Given the description of an element on the screen output the (x, y) to click on. 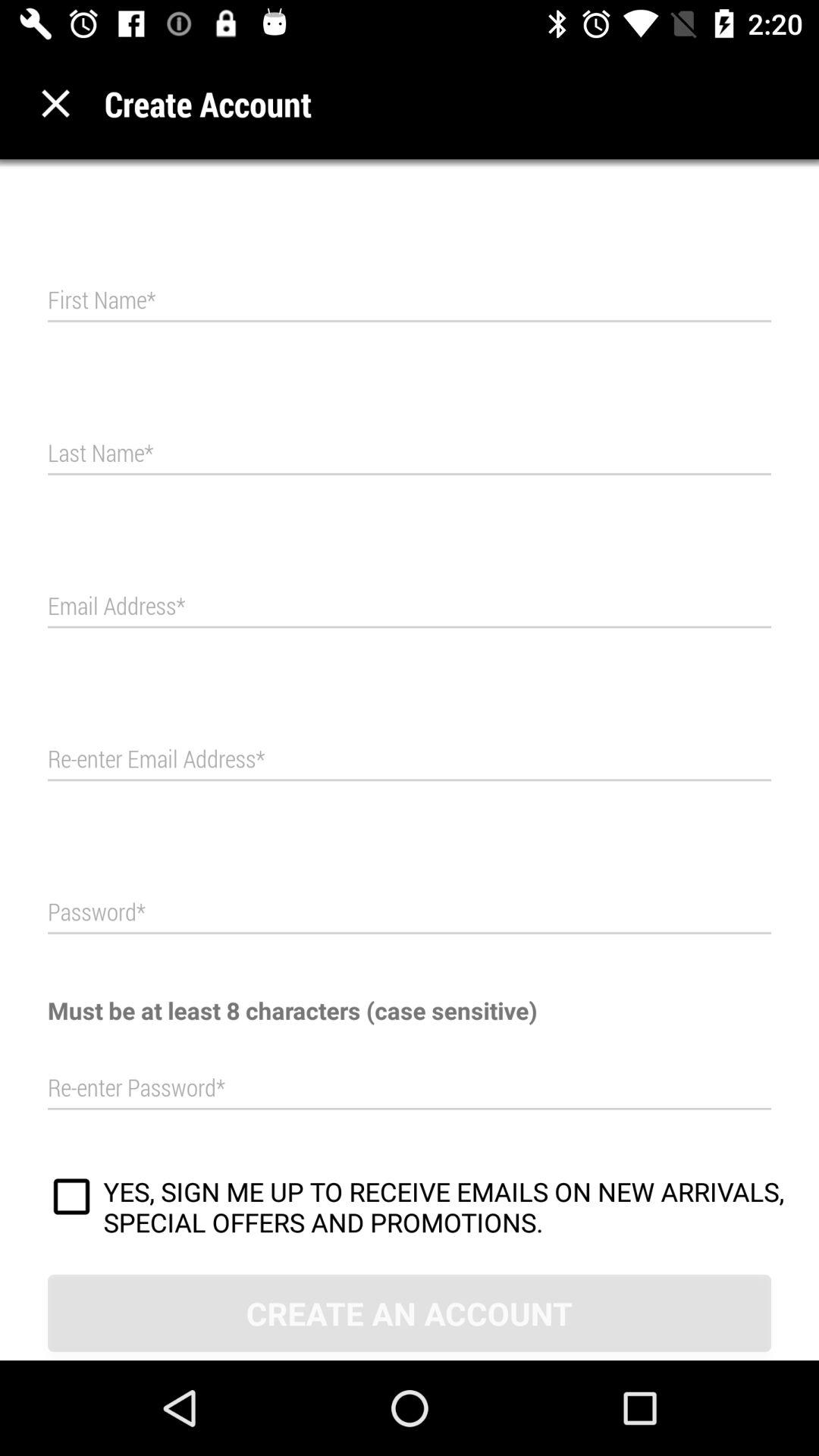
launch icon below the must be at item (409, 1088)
